Given the description of an element on the screen output the (x, y) to click on. 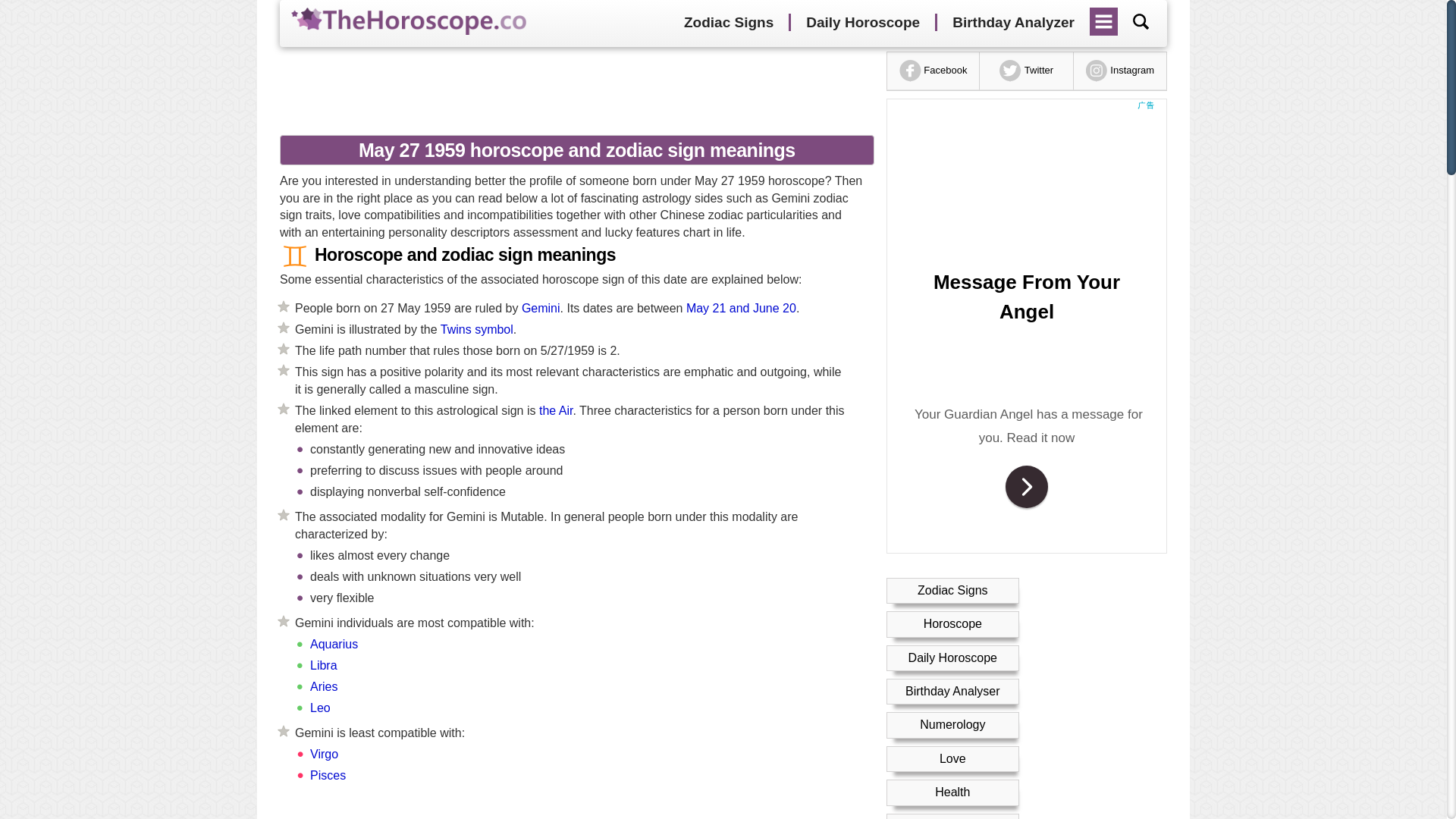
Zodiac Signs (728, 22)
Birthday Analyzer (1013, 22)
Daily Horoscope (862, 22)
Daily Horoscope (952, 657)
Health (952, 791)
Birthday Analyser (952, 690)
Love (952, 758)
Search by your birthday... (1140, 21)
Advertisement (571, 810)
Menu (1104, 16)
